Given the description of an element on the screen output the (x, y) to click on. 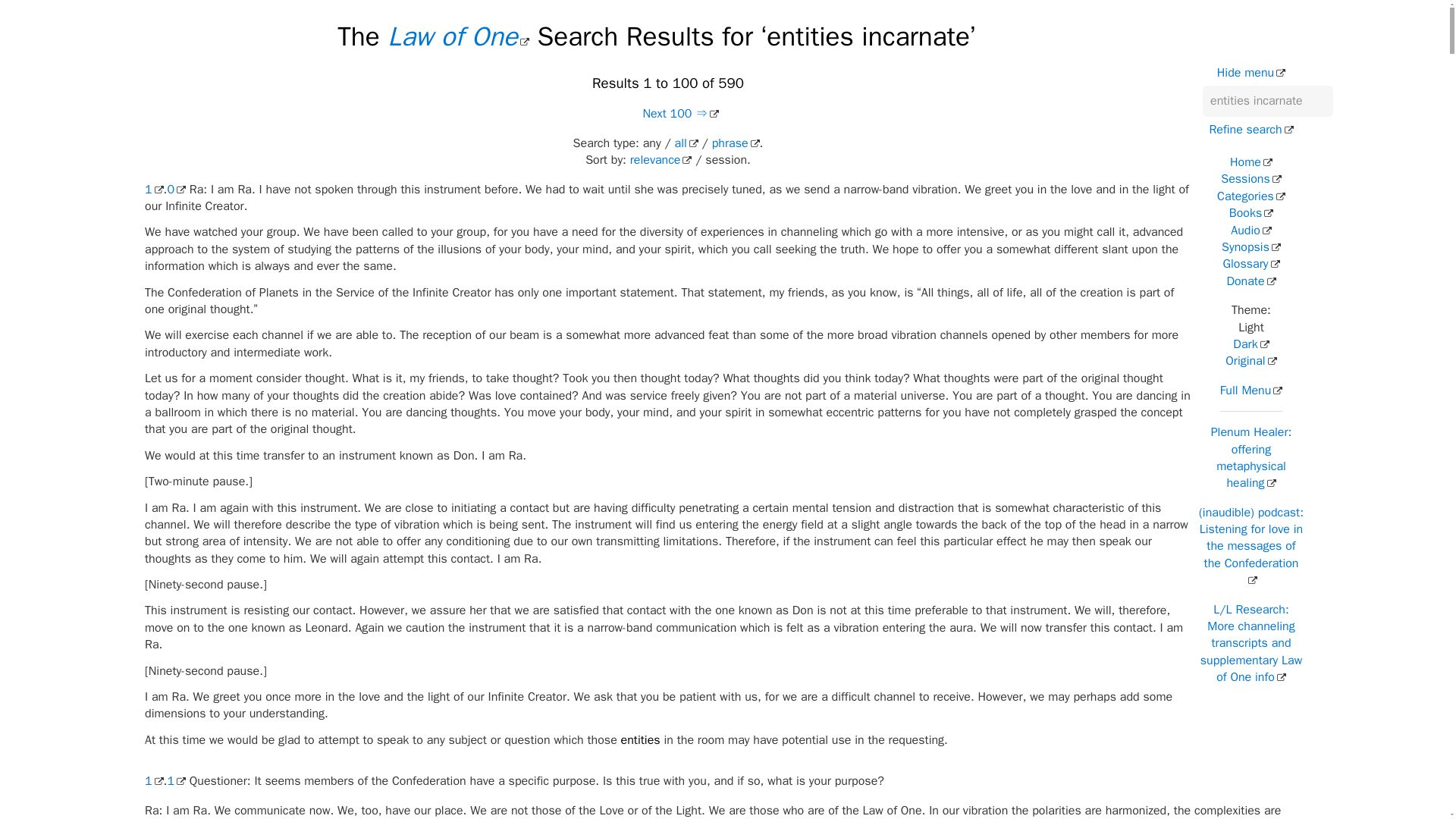
1 (153, 189)
Law of One (458, 36)
1 (176, 780)
1 (153, 780)
all (686, 142)
phrase (735, 142)
relevance (661, 159)
0 (176, 189)
